Given the description of an element on the screen output the (x, y) to click on. 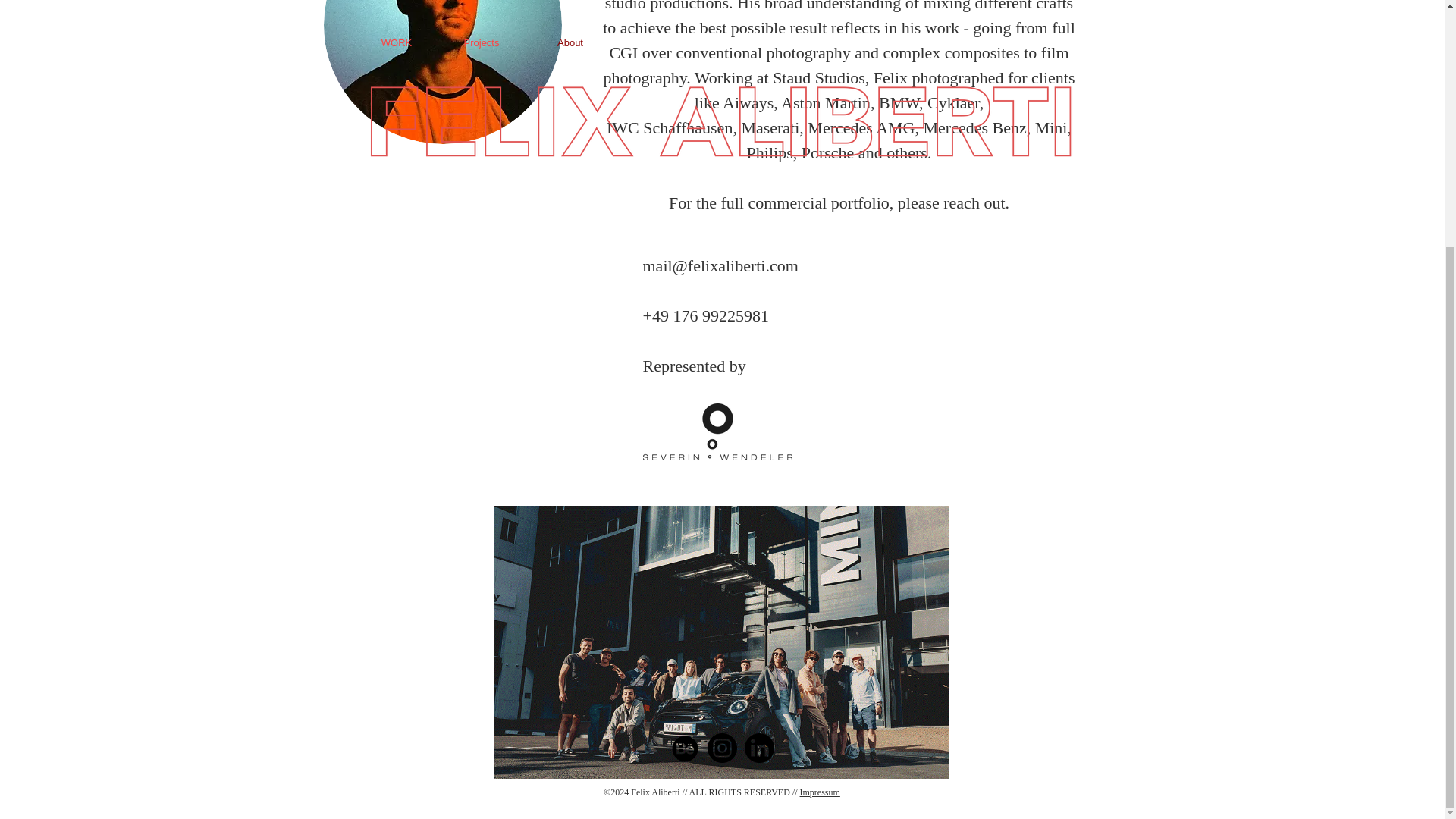
Impressum (819, 792)
